Given the description of an element on the screen output the (x, y) to click on. 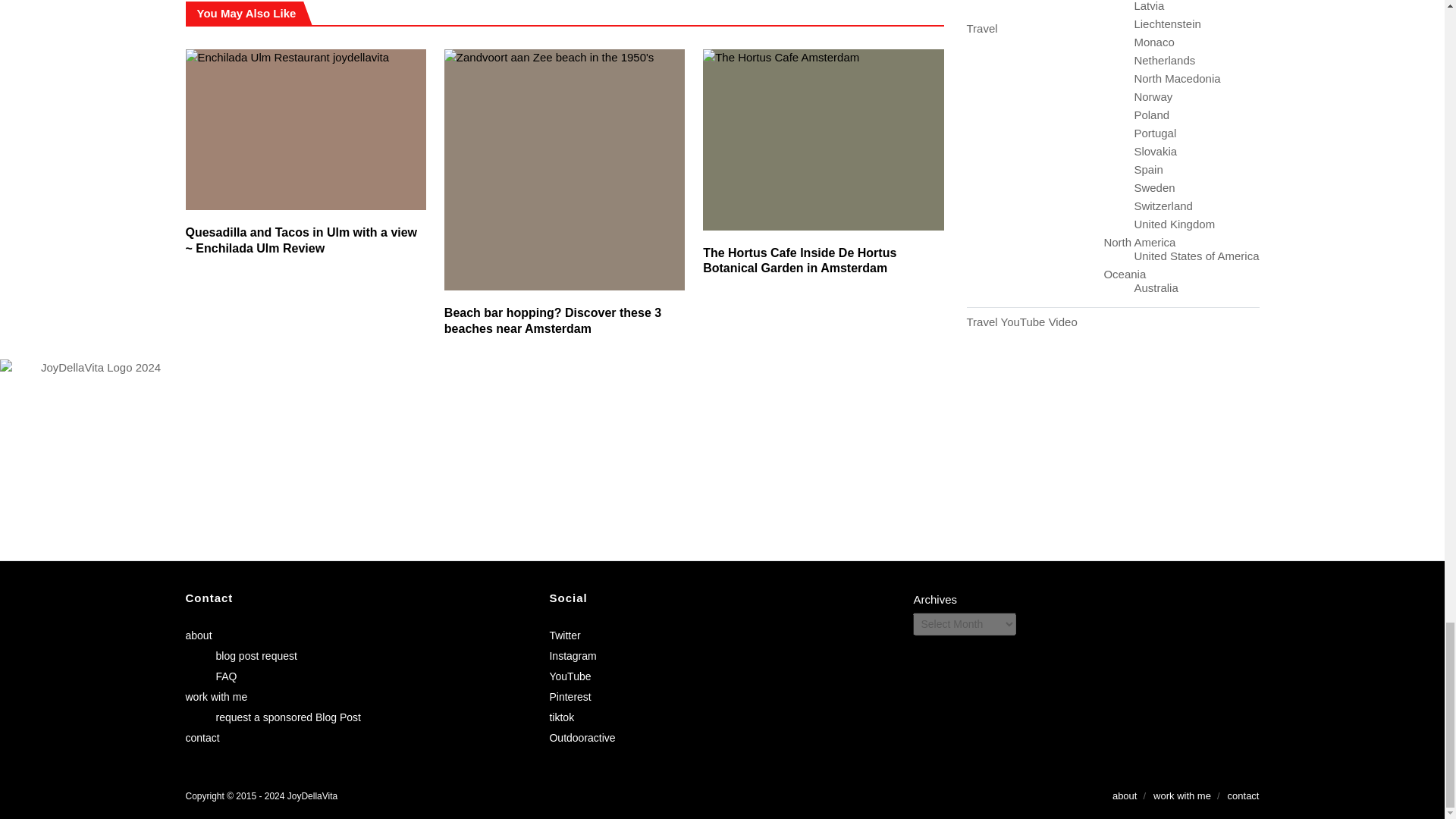
Beach bar hopping? Discover these 3 beaches near Amsterdam 7 (564, 169)
